Given the description of an element on the screen output the (x, y) to click on. 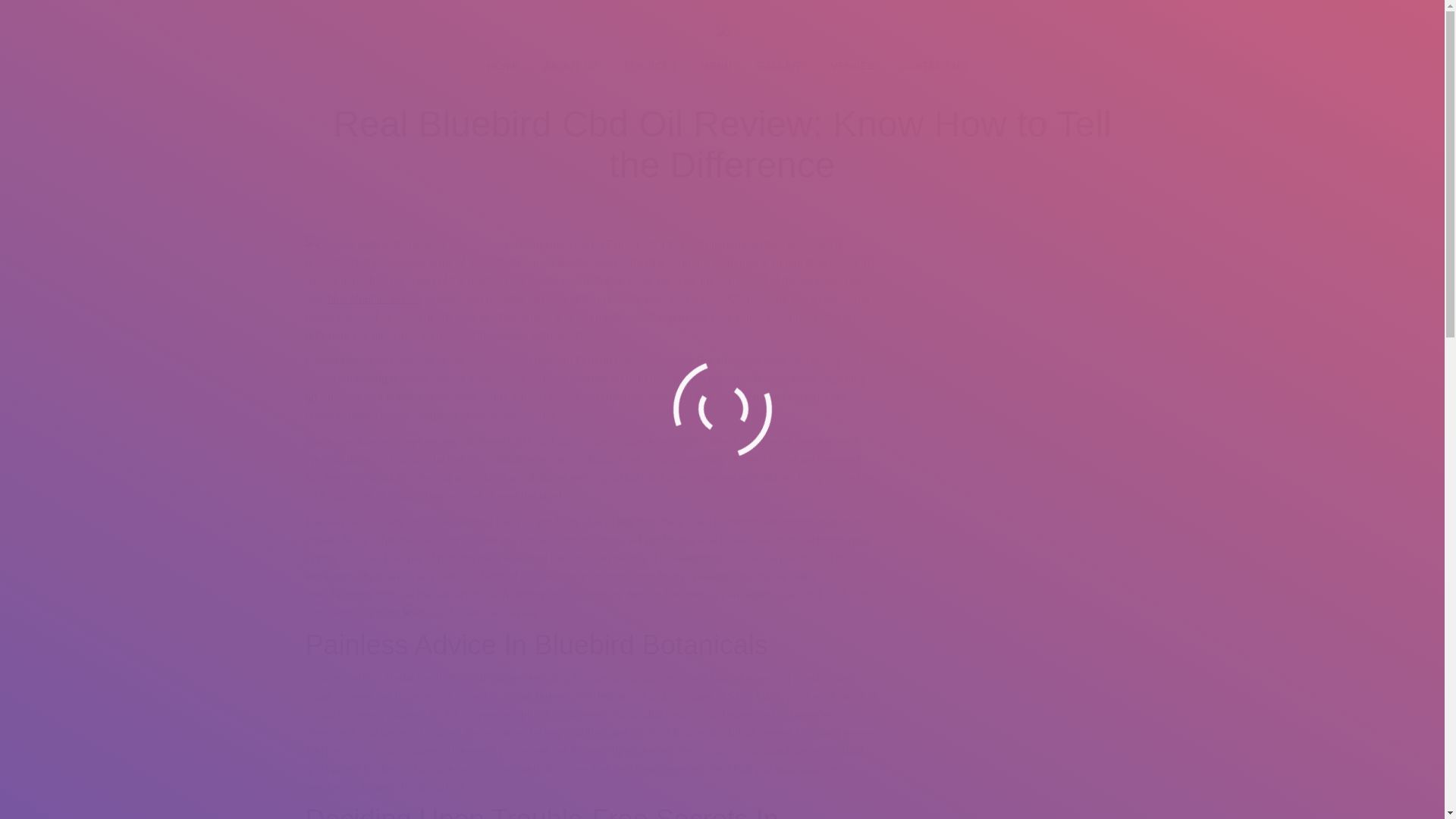
SERVICES (649, 66)
GALLERY (780, 66)
blue bluebird review (374, 298)
MENU (716, 66)
HOME (502, 66)
CONTACT US (933, 66)
VENUES (852, 66)
ABOUT US (569, 66)
go (310, 397)
